Given the description of an element on the screen output the (x, y) to click on. 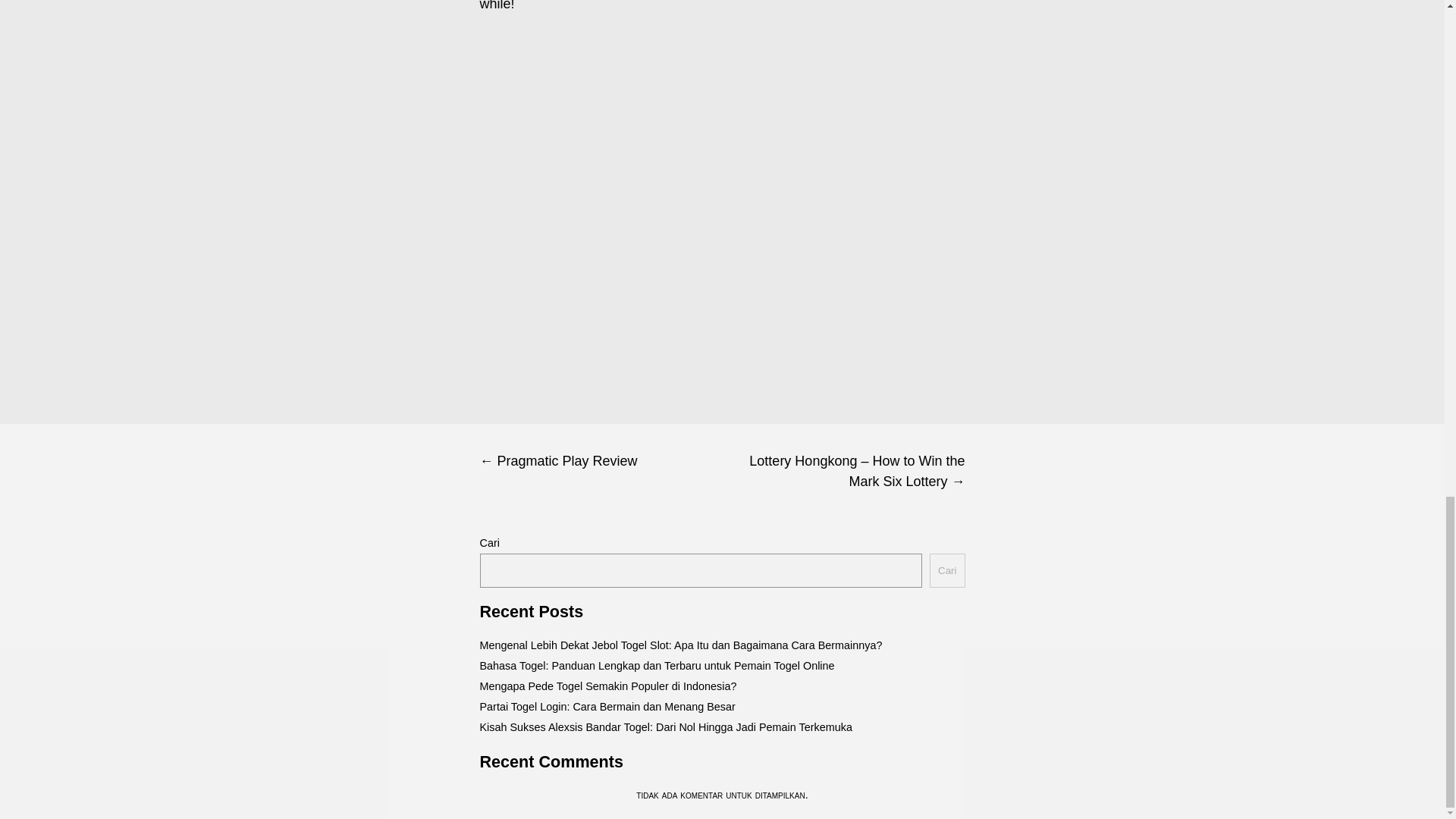
Mengapa Pede Togel Semakin Populer di Indonesia? (607, 686)
Partai Togel Login: Cara Bermain dan Menang Besar (607, 706)
Pragmatic Play Review (600, 461)
Cari (946, 570)
